Given the description of an element on the screen output the (x, y) to click on. 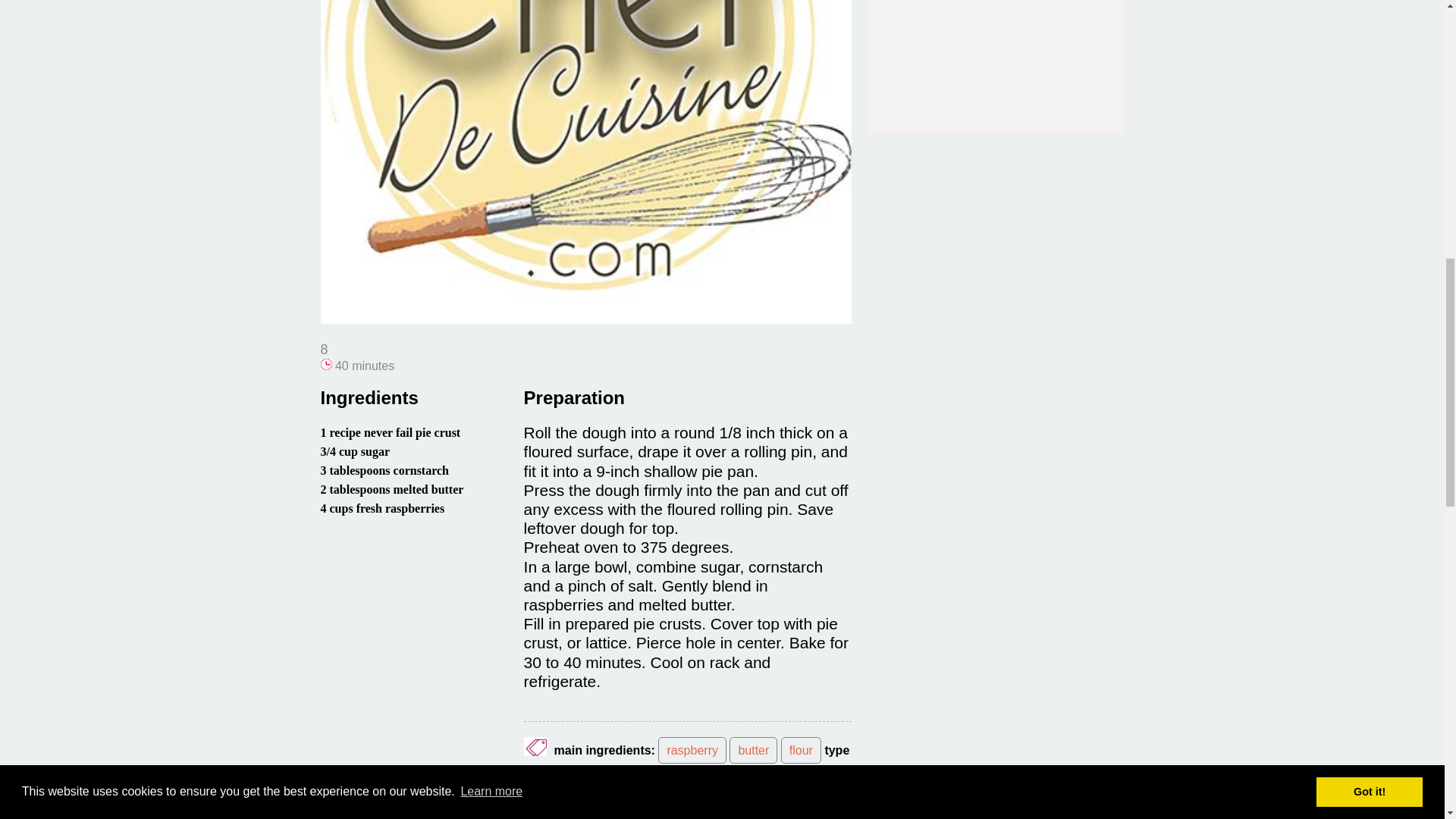
Advertisement (994, 54)
